Given the description of an element on the screen output the (x, y) to click on. 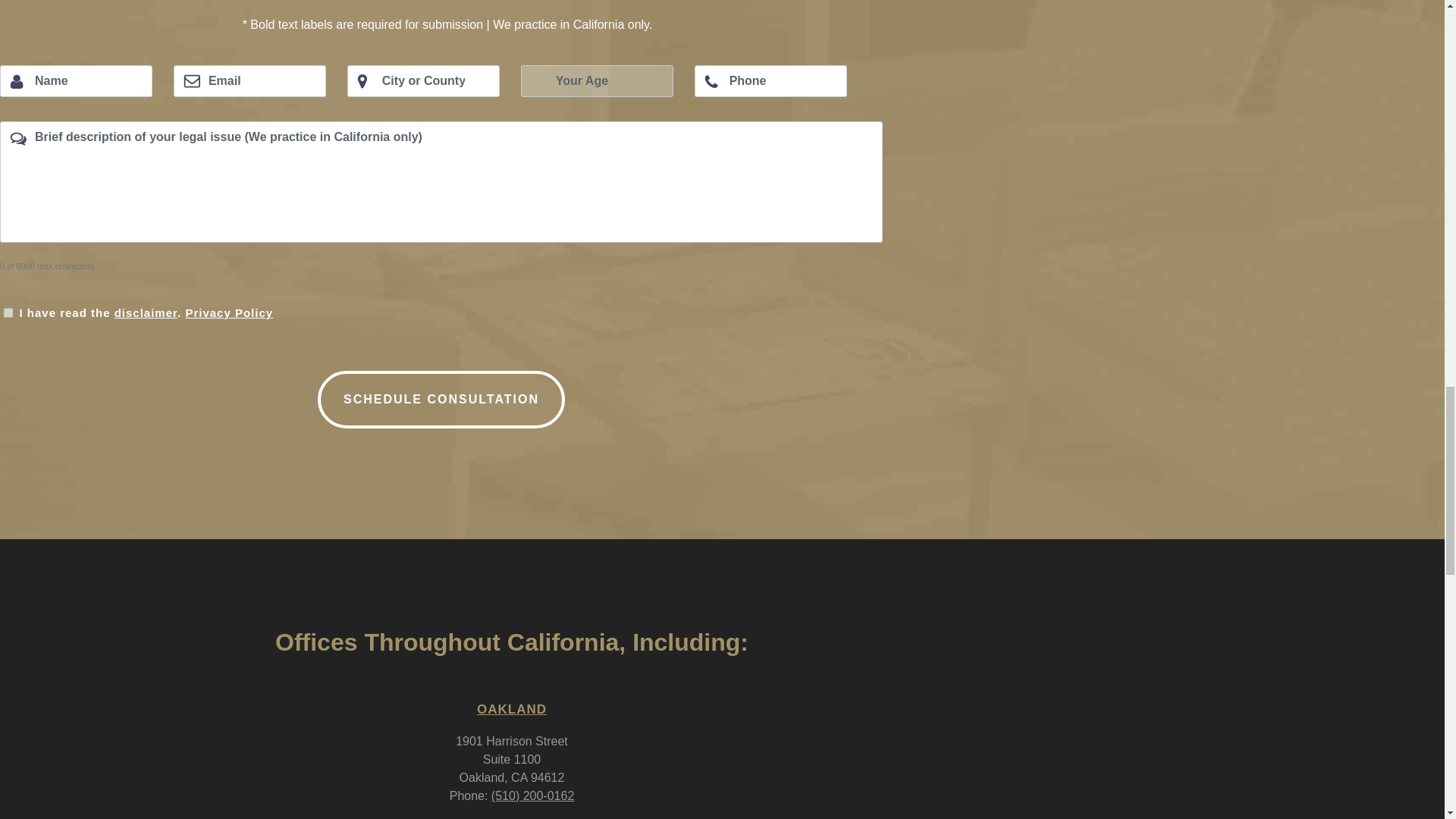
Schedule Consultation (440, 399)
